Given the description of an element on the screen output the (x, y) to click on. 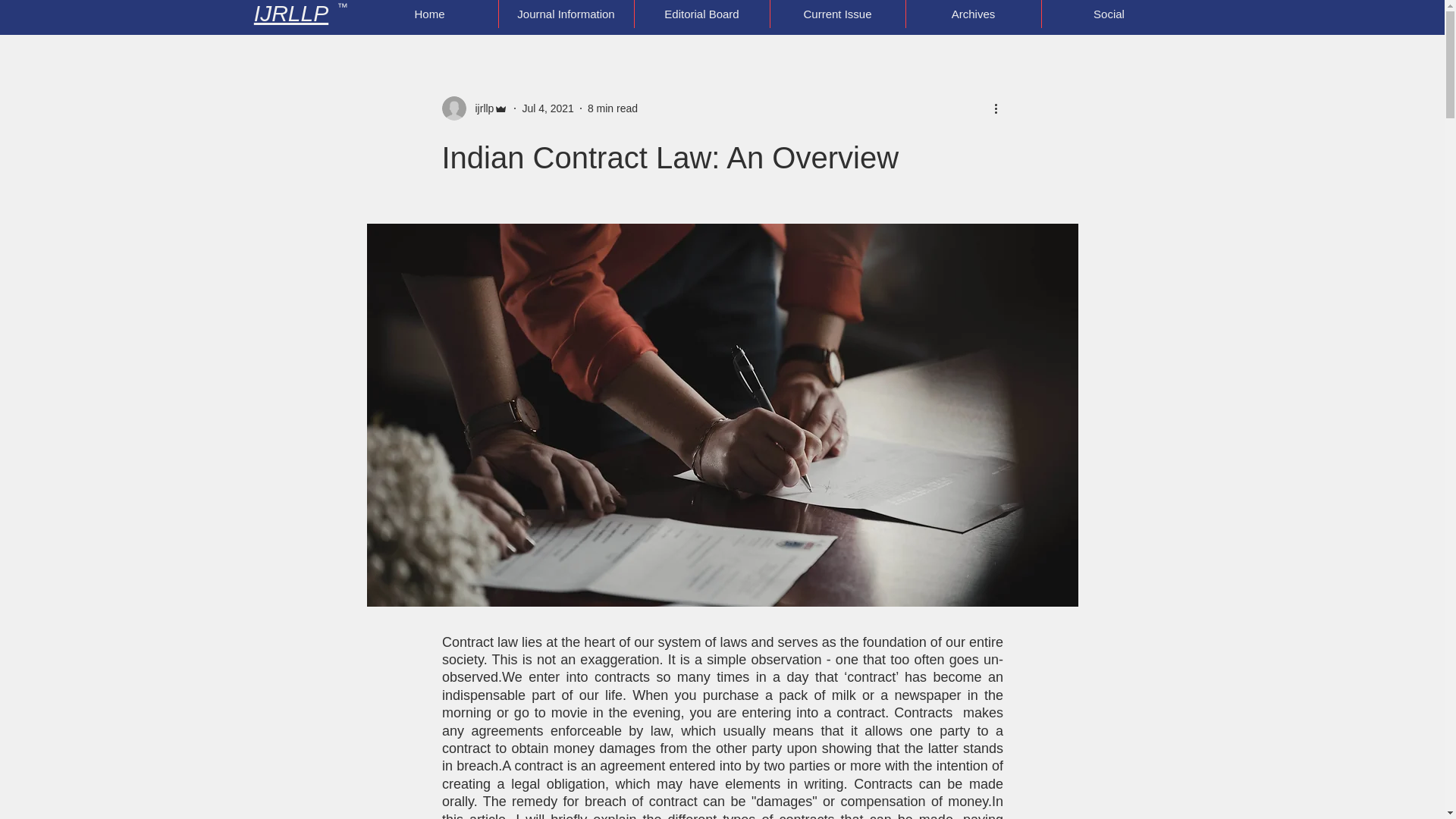
IJRLLP (291, 12)
ijrllp (479, 107)
Archives (973, 13)
Home (429, 13)
Current Issue (836, 13)
Jul 4, 2021 (547, 107)
8 min read (612, 107)
